Given the description of an element on the screen output the (x, y) to click on. 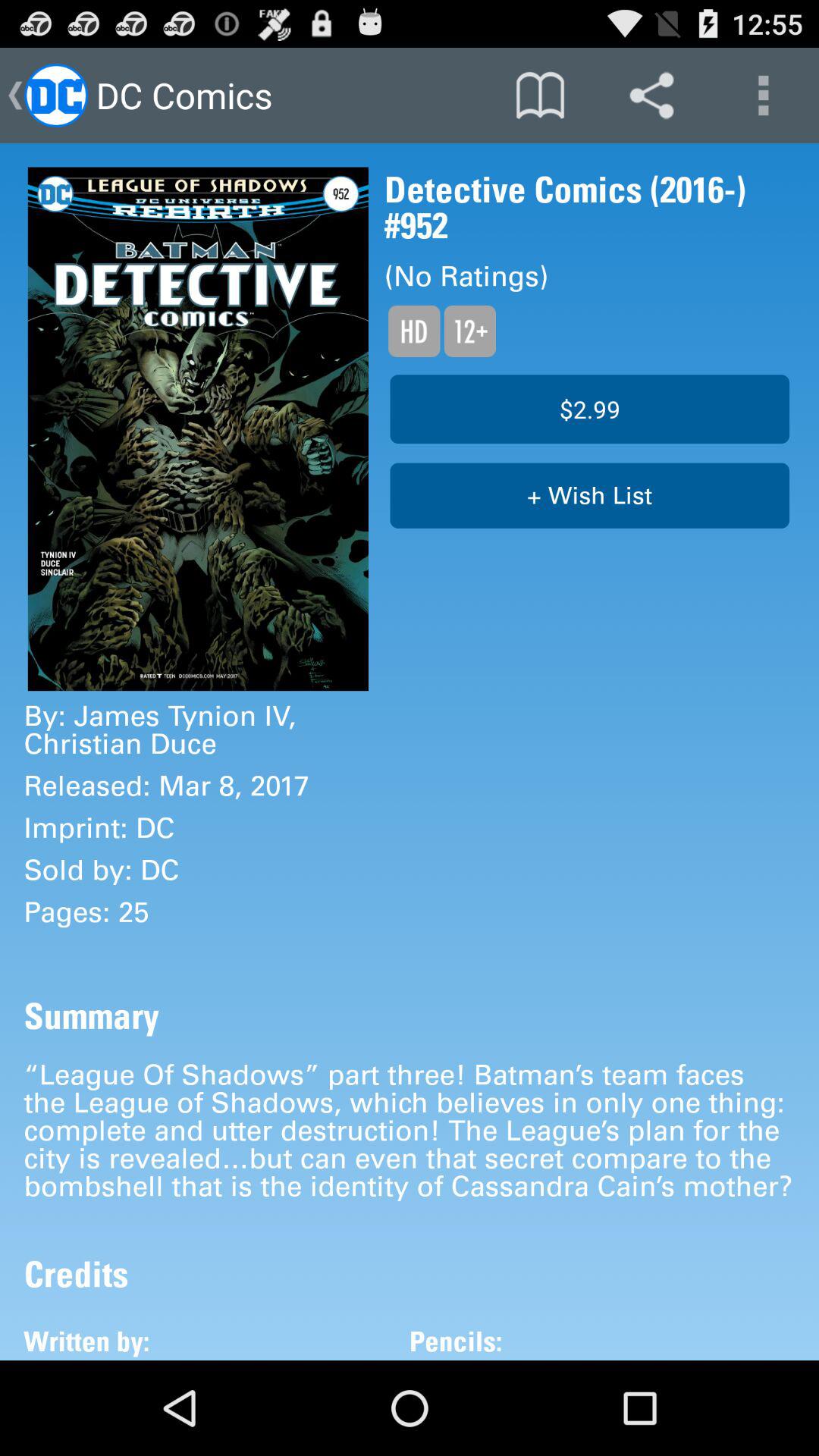
choose the icon next to the detective comics 2016 icon (197, 429)
